Given the description of an element on the screen output the (x, y) to click on. 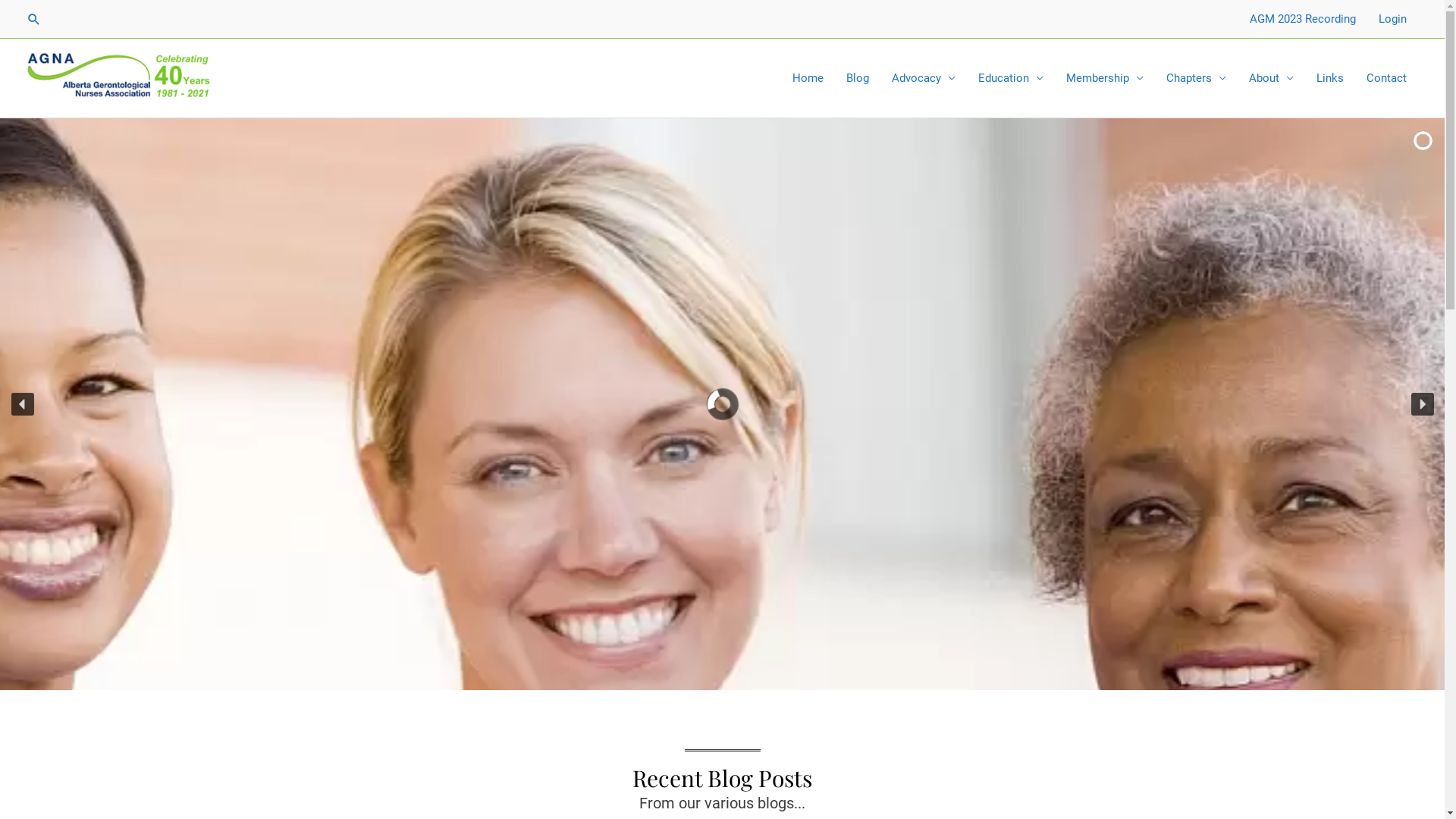
Education Element type: text (1010, 77)
Login Element type: text (1392, 18)
About Element type: text (1271, 77)
AGM 2023 Recording Element type: text (1302, 18)
Blog Element type: text (857, 77)
Membership Element type: text (1104, 77)
[MORE] Element type: text (669, 589)
Welcome to AGNA Element type: text (392, 502)
Home Element type: text (807, 77)
Links Element type: text (1330, 77)
Contact Element type: text (1386, 77)
Chapters Element type: text (1195, 77)
Search Element type: text (33, 18)
Advocacy Element type: text (923, 77)
